Given the description of an element on the screen output the (x, y) to click on. 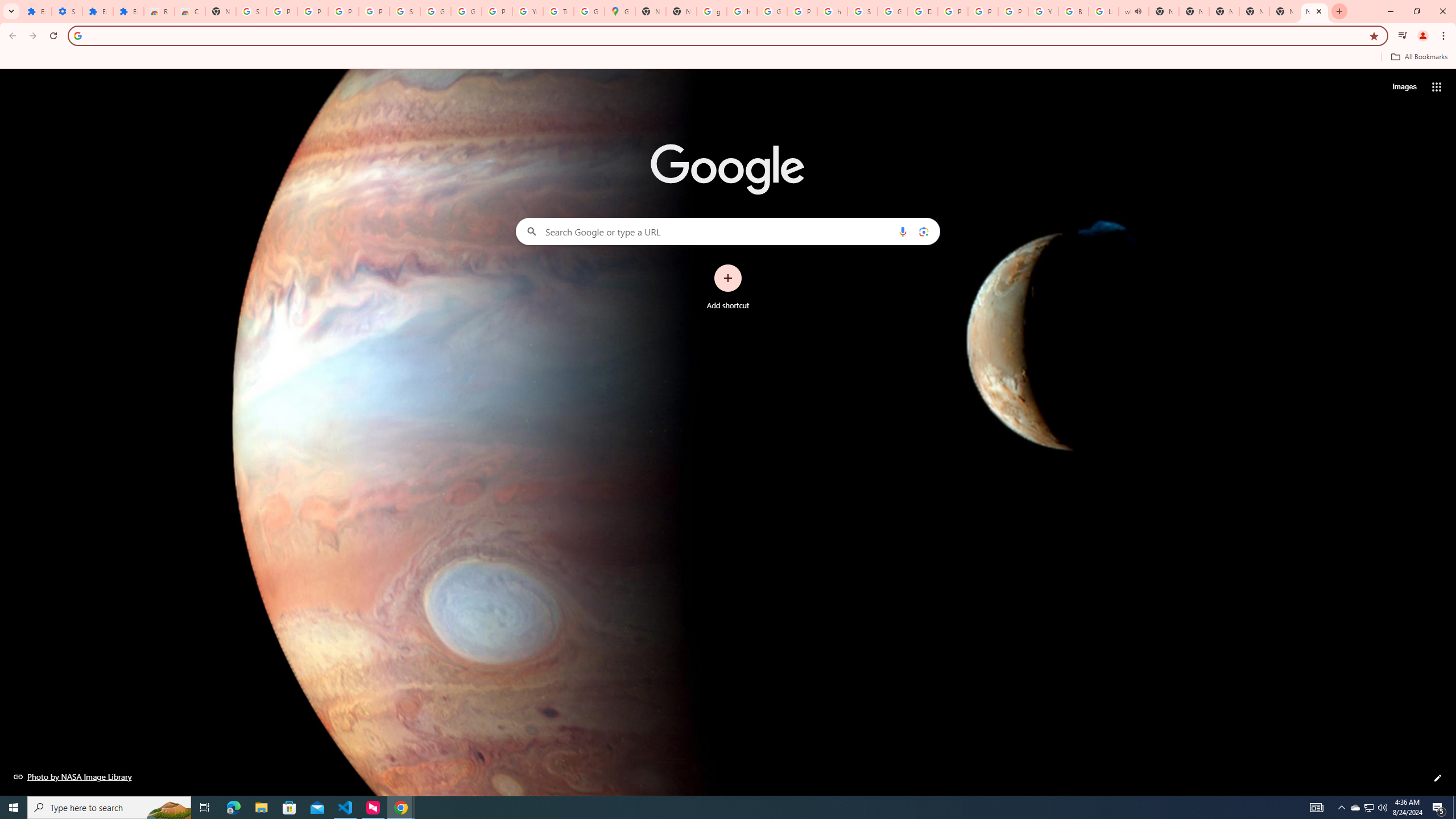
New Tab (1254, 11)
New Tab (1314, 11)
Chrome Web Store - Themes (189, 11)
Settings (66, 11)
